Given the description of an element on the screen output the (x, y) to click on. 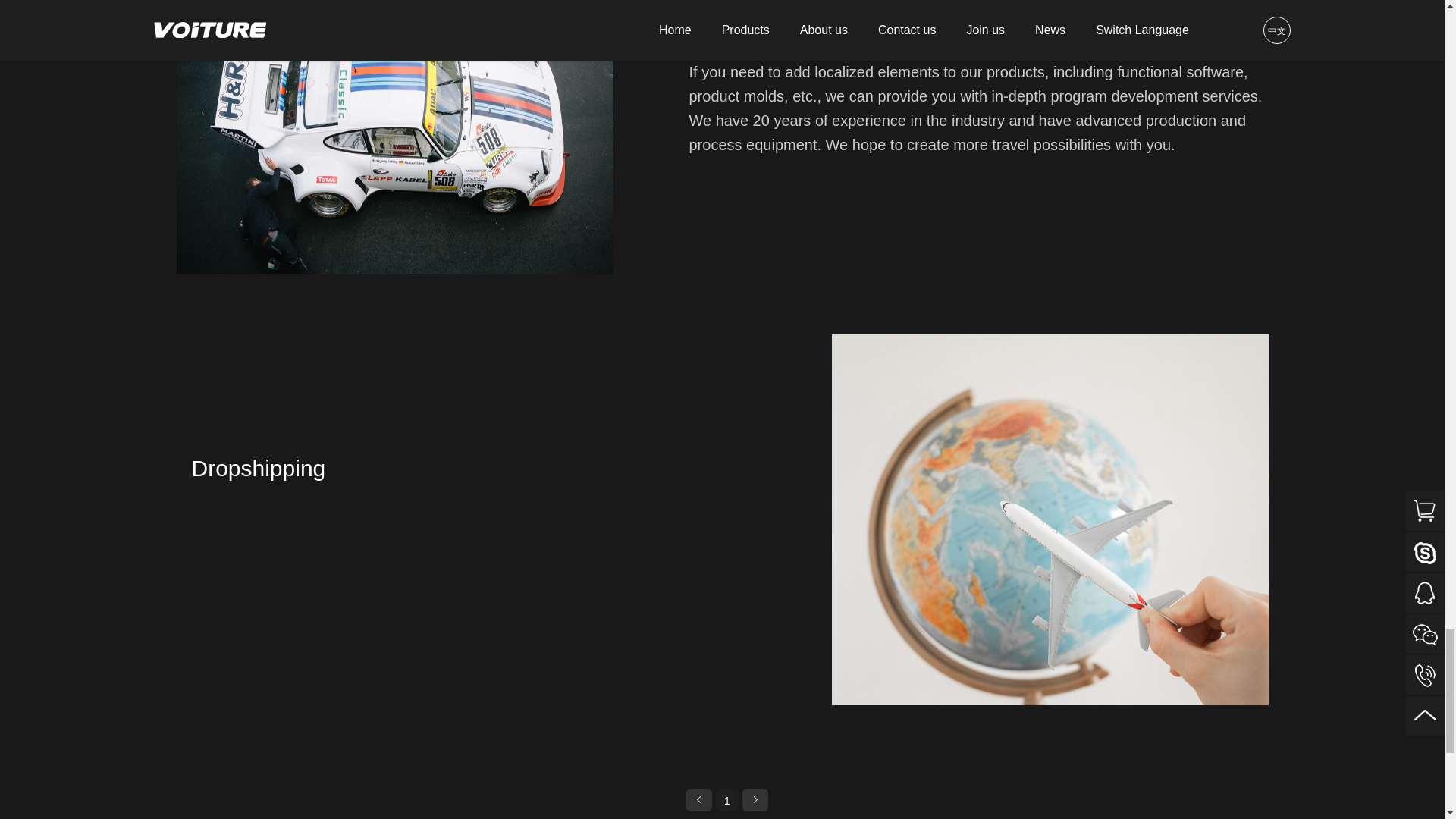
Program Development:  (394, 136)
